Given the description of an element on the screen output the (x, y) to click on. 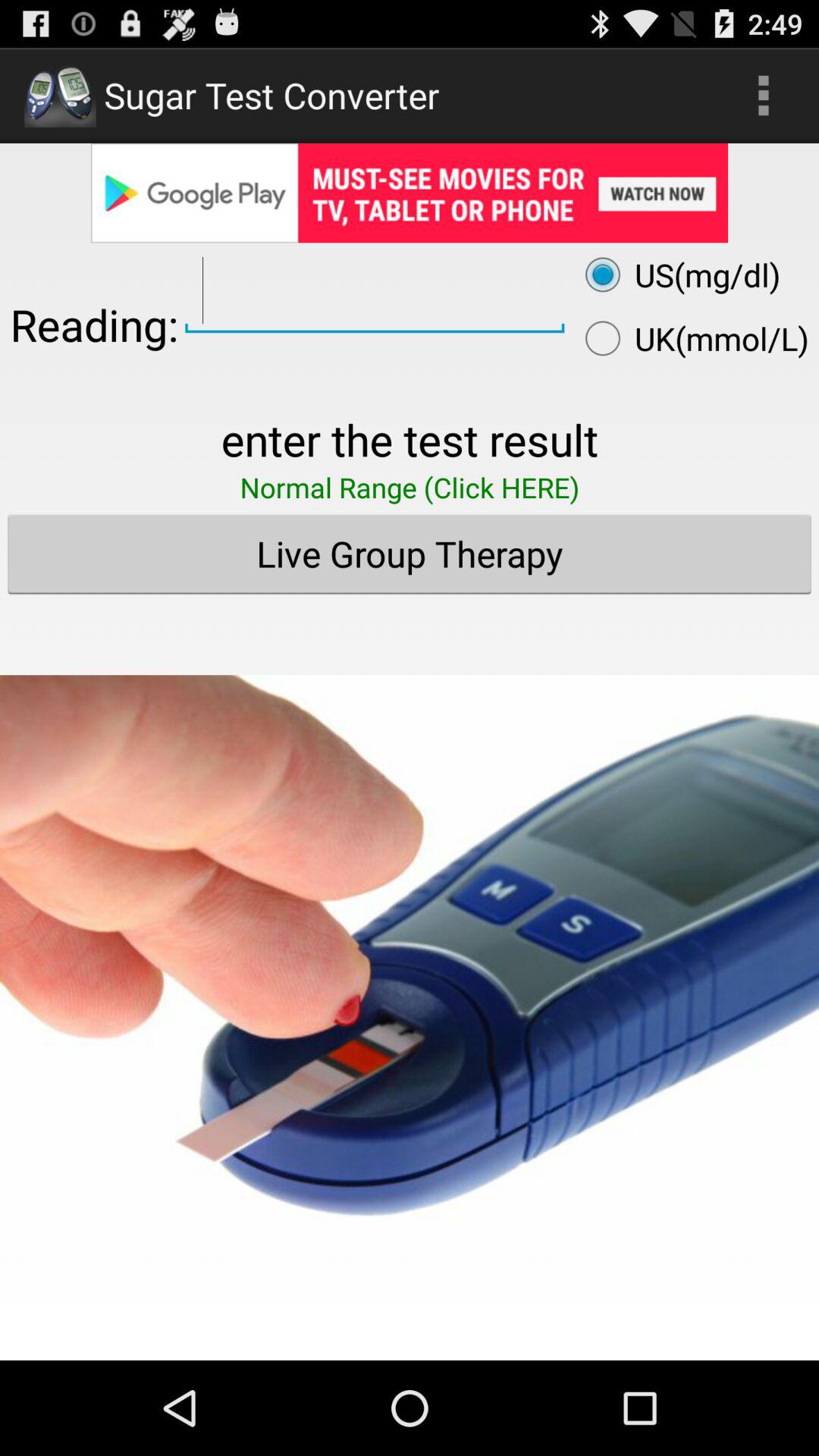
press on blood test monitor button (409, 964)
